Given the description of an element on the screen output the (x, y) to click on. 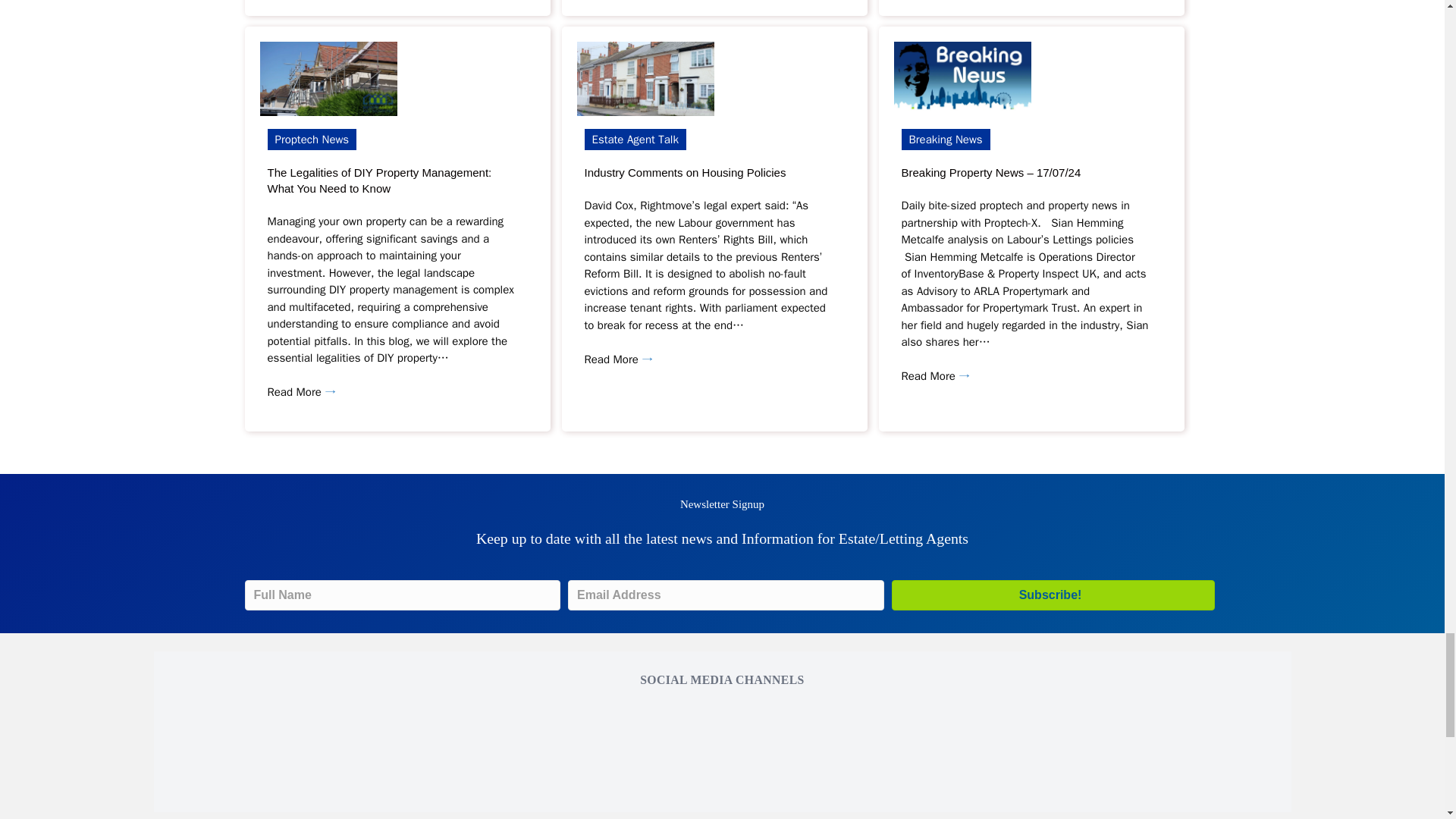
Industry Comments on Housing Policies (684, 172)
Estate Agent Talk (634, 139)
Industry Comments on Housing Policies (684, 172)
Industry Comments on Housing Policies (645, 78)
Proptech News (312, 139)
